Given the description of an element on the screen output the (x, y) to click on. 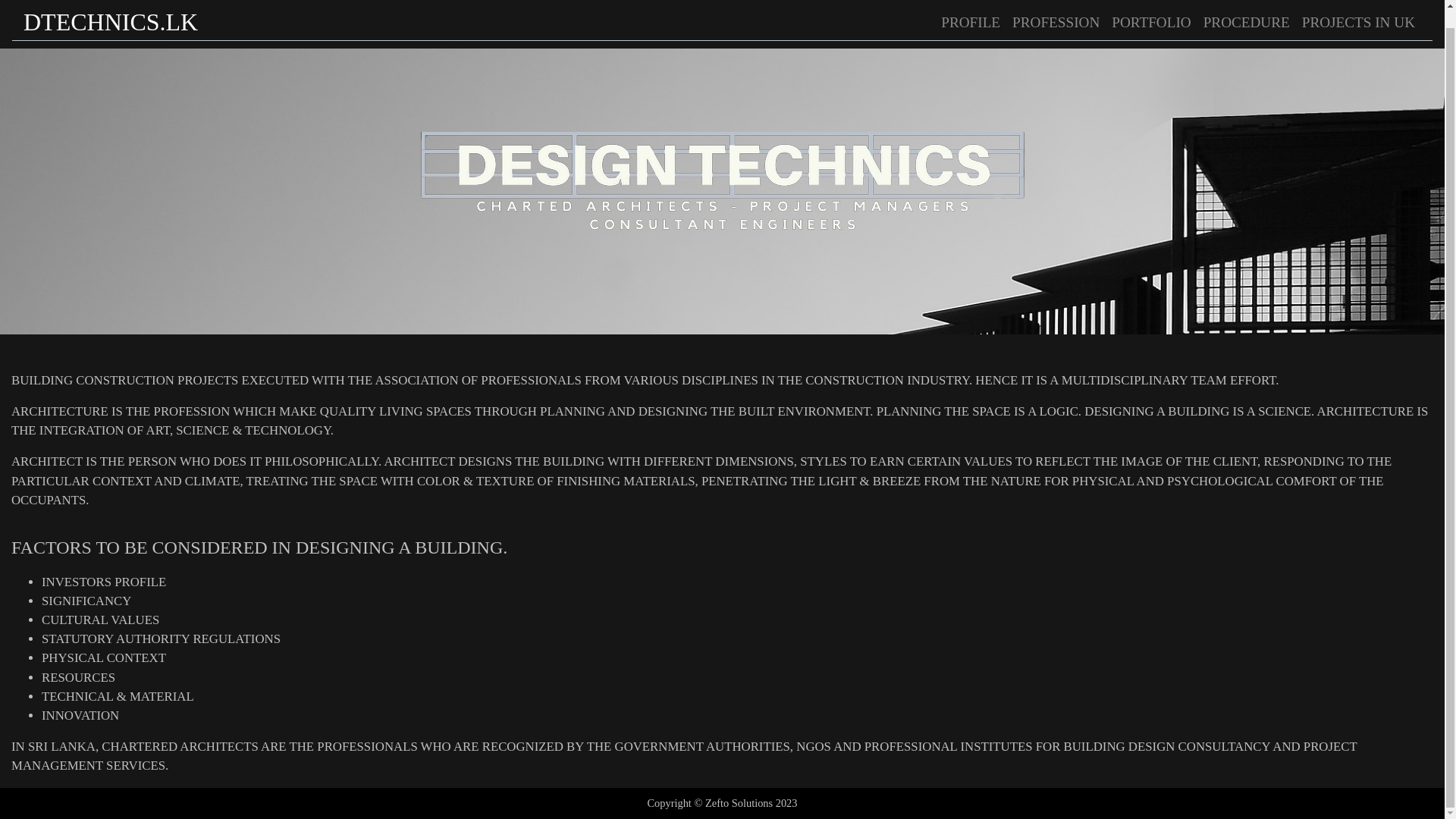
PORTFOLIO (1150, 11)
PROFESSION (1055, 11)
PROCEDURE (1245, 11)
DTECHNICS.LK (110, 12)
PROJECTS IN UK (1358, 11)
PROFILE (970, 11)
